Given the description of an element on the screen output the (x, y) to click on. 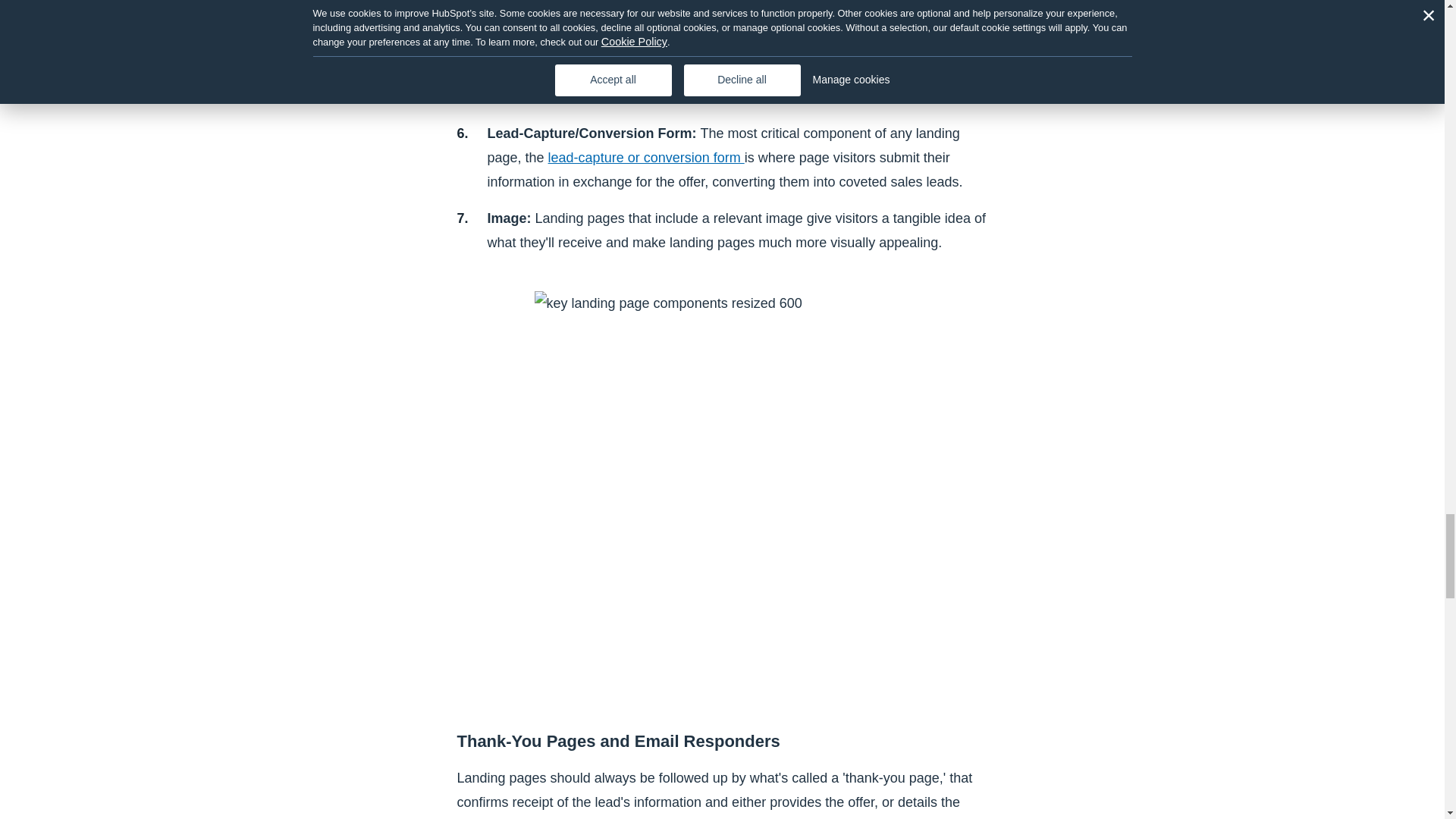
lead-capture form (646, 157)
